Given the description of an element on the screen output the (x, y) to click on. 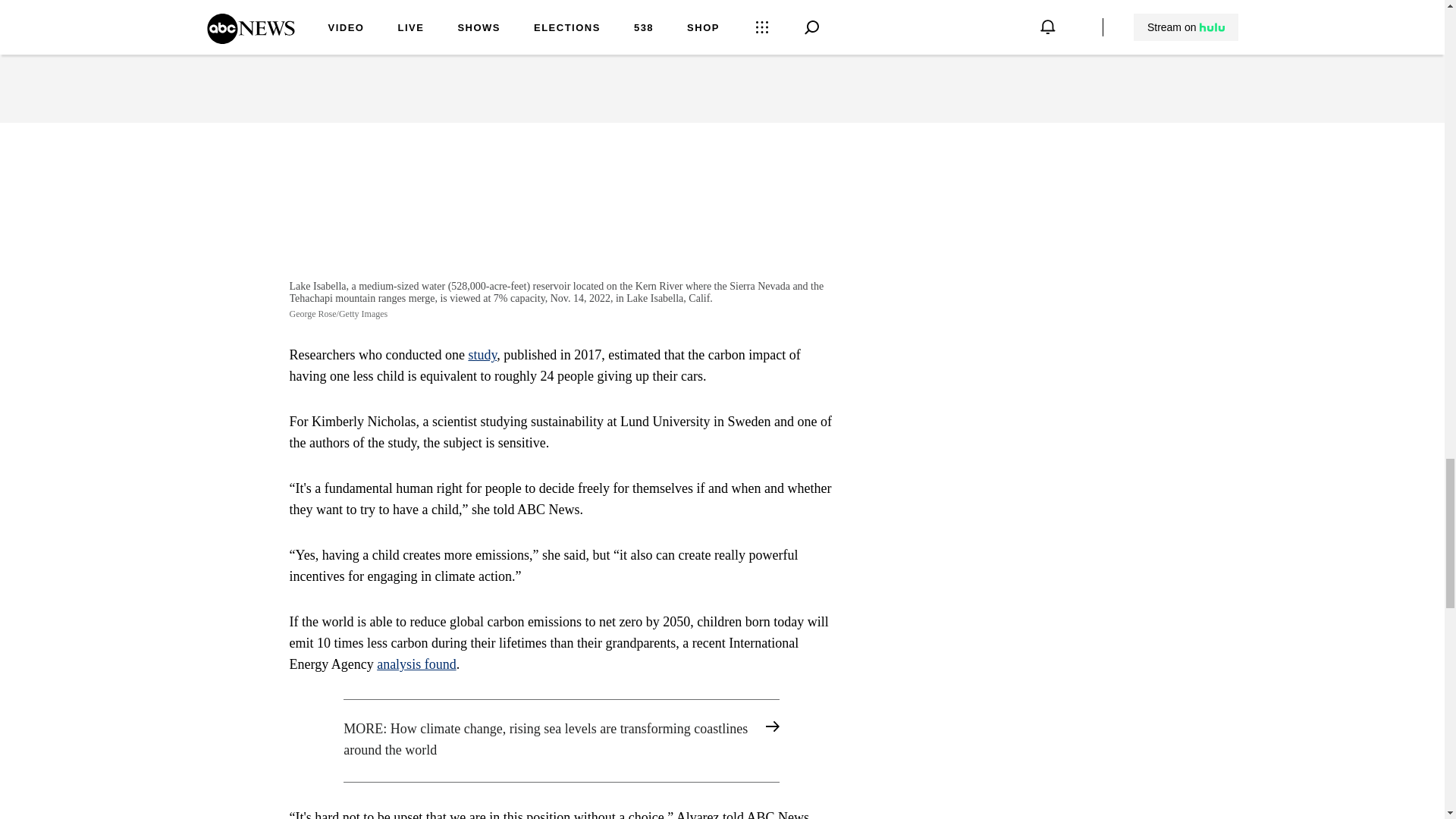
study (481, 354)
analysis found (416, 663)
